Given the description of an element on the screen output the (x, y) to click on. 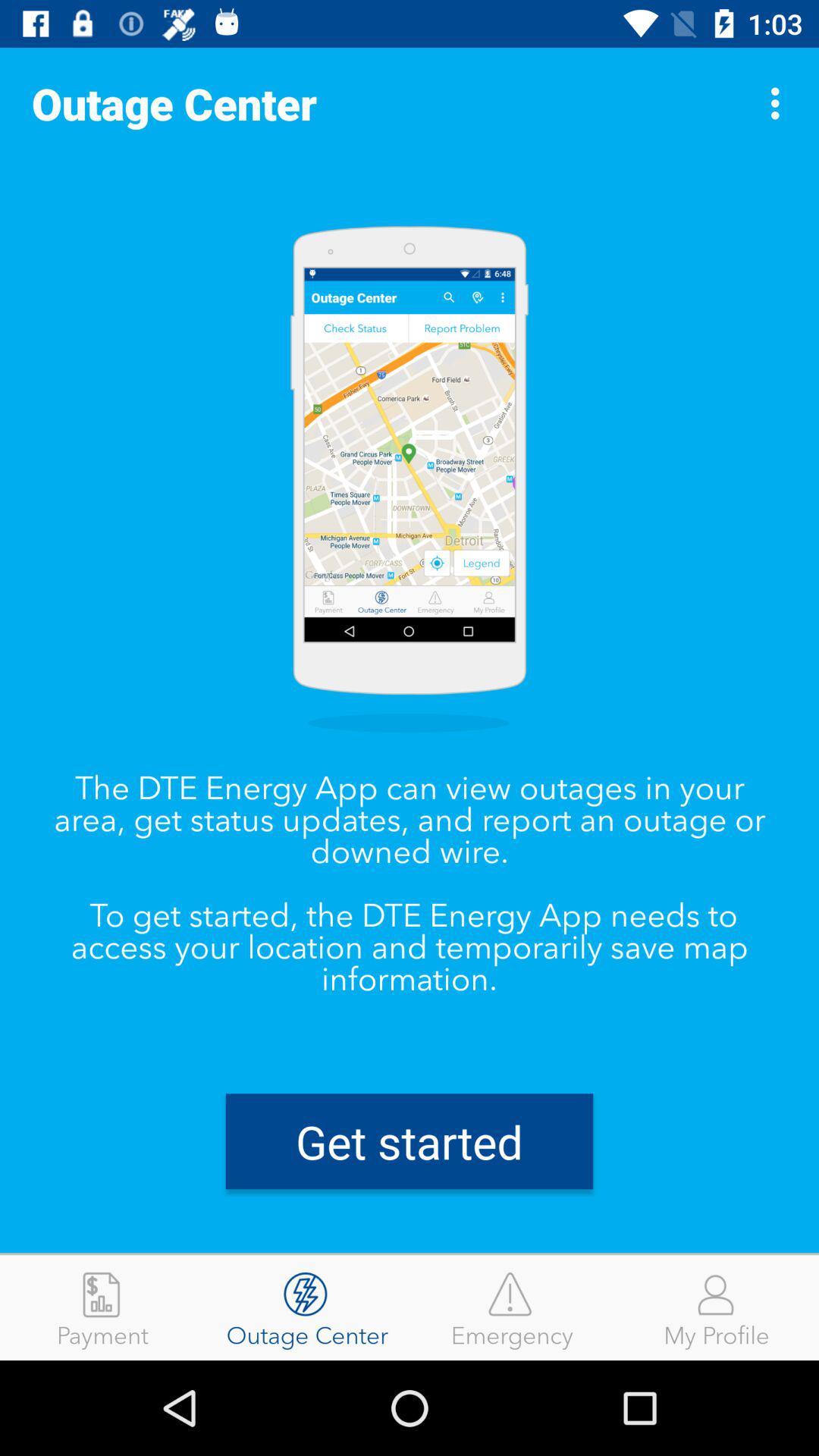
choose the item next to the outage center item (511, 1307)
